Given the description of an element on the screen output the (x, y) to click on. 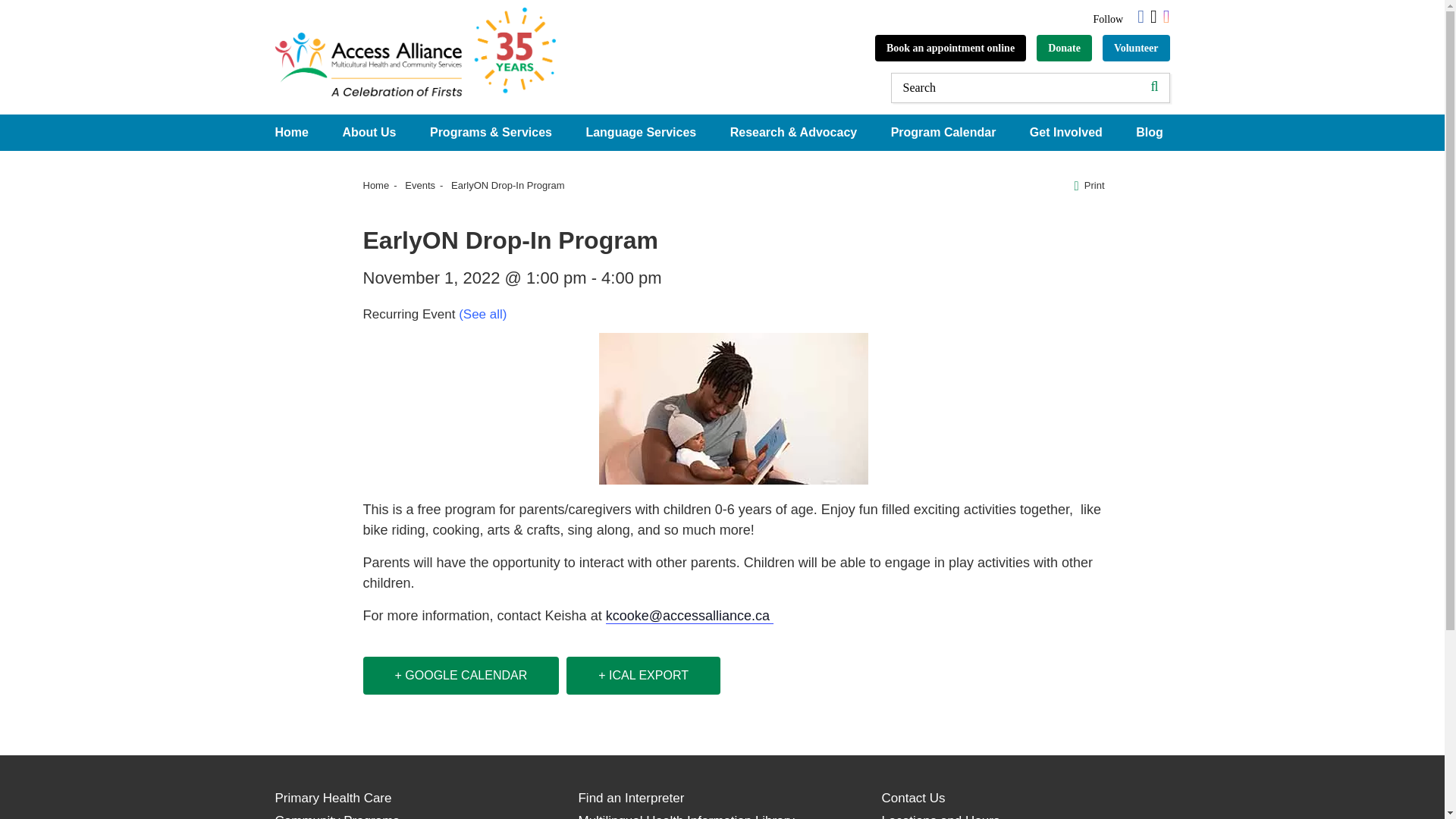
Book an appointment online (950, 48)
Volunteer (1136, 48)
Home (291, 132)
Add to Google Calendar (460, 675)
Donate (1064, 48)
Language Services (640, 132)
About Us (369, 132)
